Given the description of an element on the screen output the (x, y) to click on. 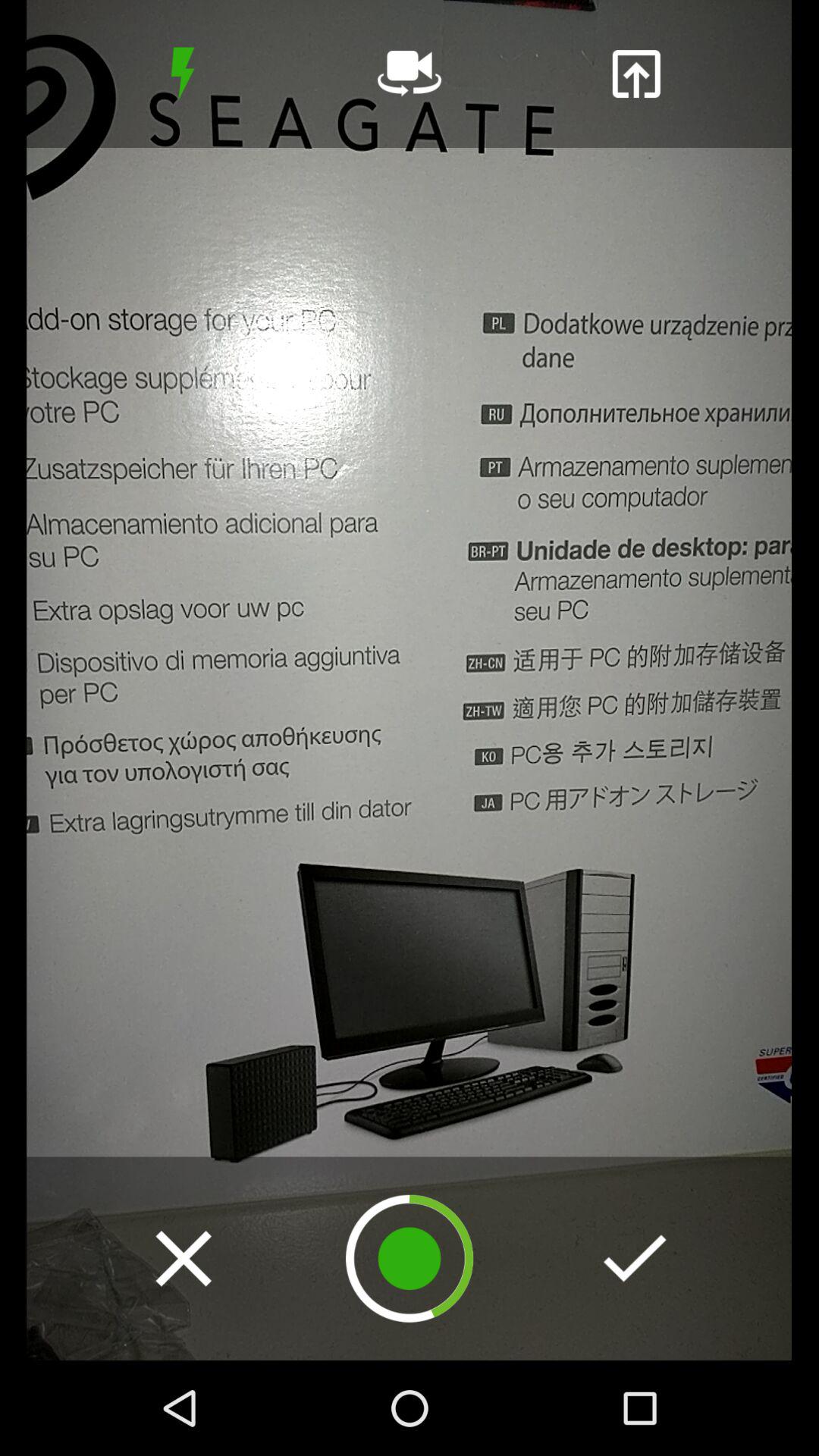
launch the icon at the bottom right corner (634, 1258)
